Given the description of an element on the screen output the (x, y) to click on. 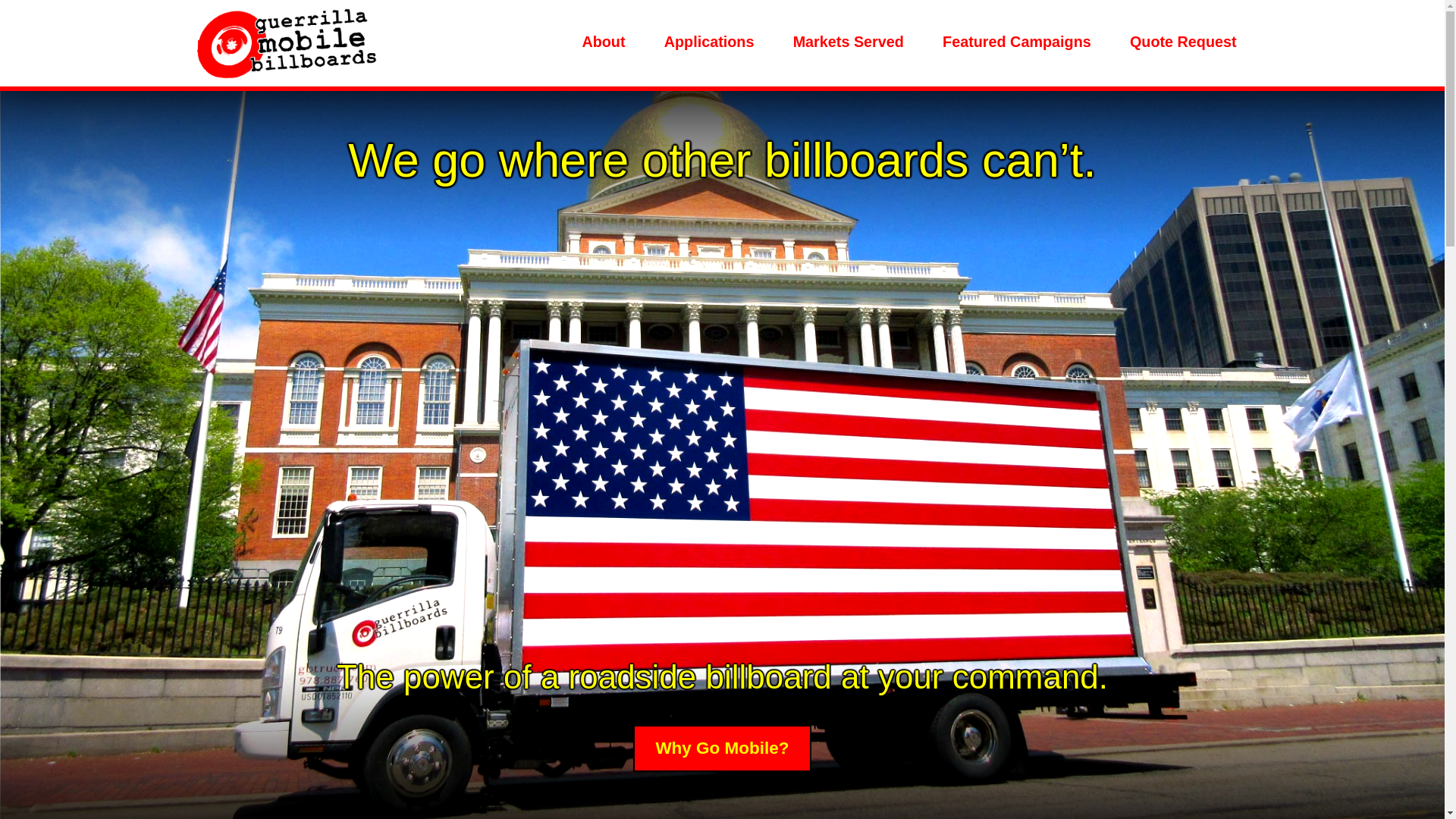
Why Go Mobile? (721, 748)
Featured Campaigns (1016, 41)
Applications (708, 41)
Logo (287, 43)
Menu (214, 45)
About (603, 41)
Quote Request (1183, 41)
Markets Served (847, 41)
